Given the description of an element on the screen output the (x, y) to click on. 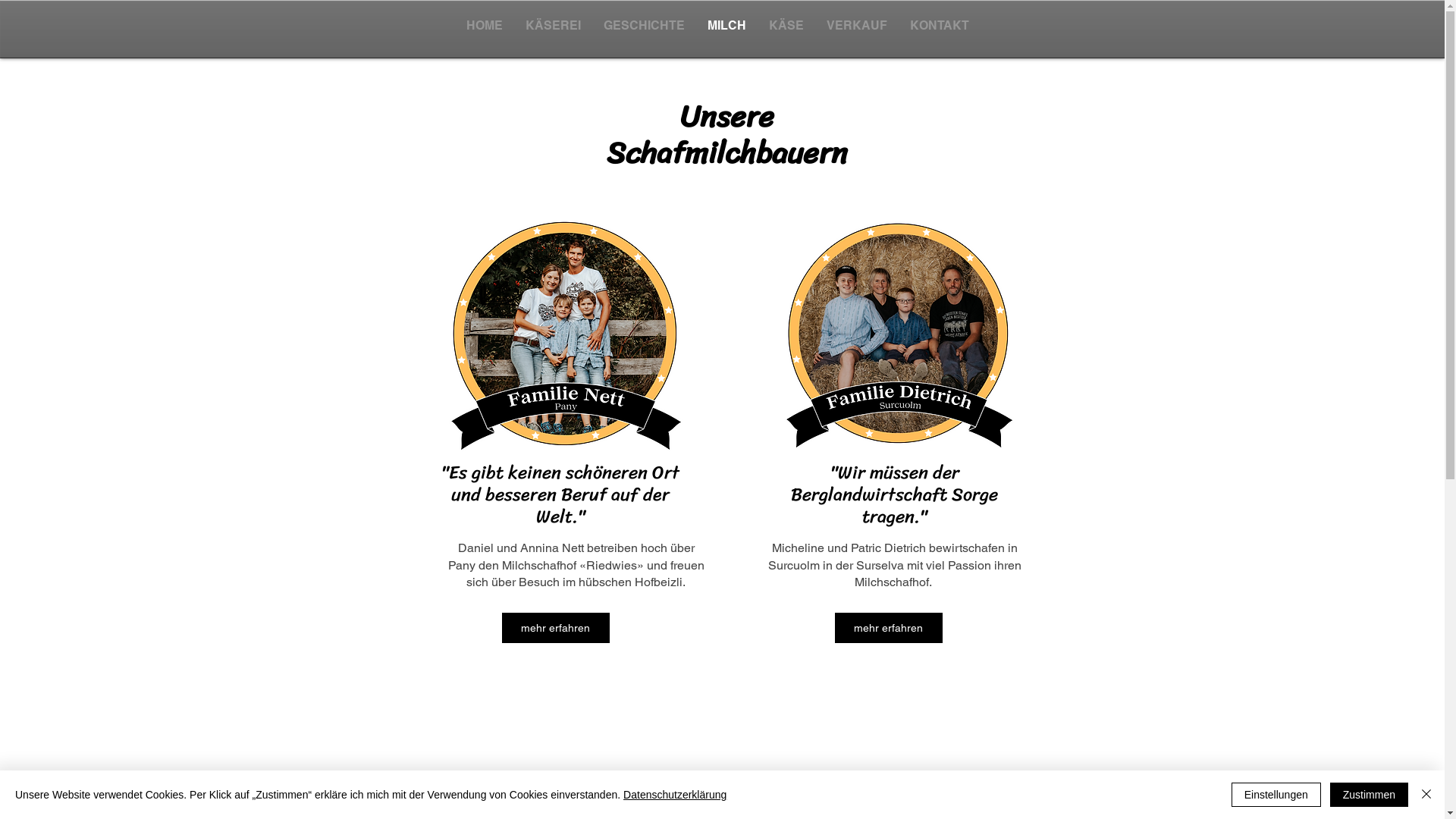
mehr erfahren Element type: text (555, 627)
HOME Element type: text (484, 25)
Einstellungen Element type: text (1276, 794)
VERKAUF Element type: text (855, 25)
KONTAKT Element type: text (938, 25)
mehr erfahren Element type: text (887, 627)
GESCHICHTE Element type: text (643, 25)
Zustimmen Element type: text (1369, 794)
MILCH Element type: text (726, 25)
